Given the description of an element on the screen output the (x, y) to click on. 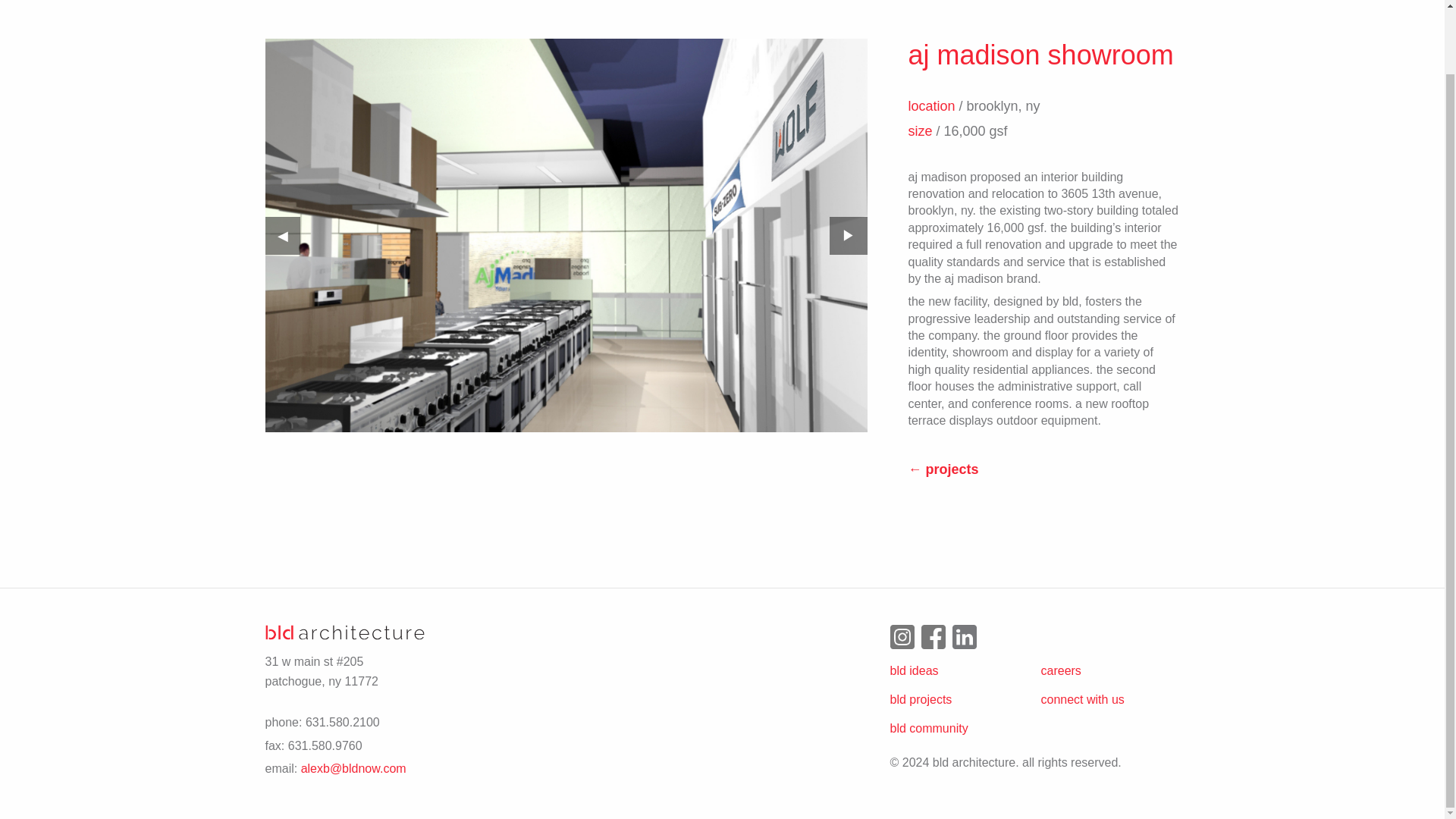
careers (1060, 671)
bld community (928, 728)
bld ideas (914, 671)
connect with us (1082, 699)
bld projects (920, 699)
